Given the description of an element on the screen output the (x, y) to click on. 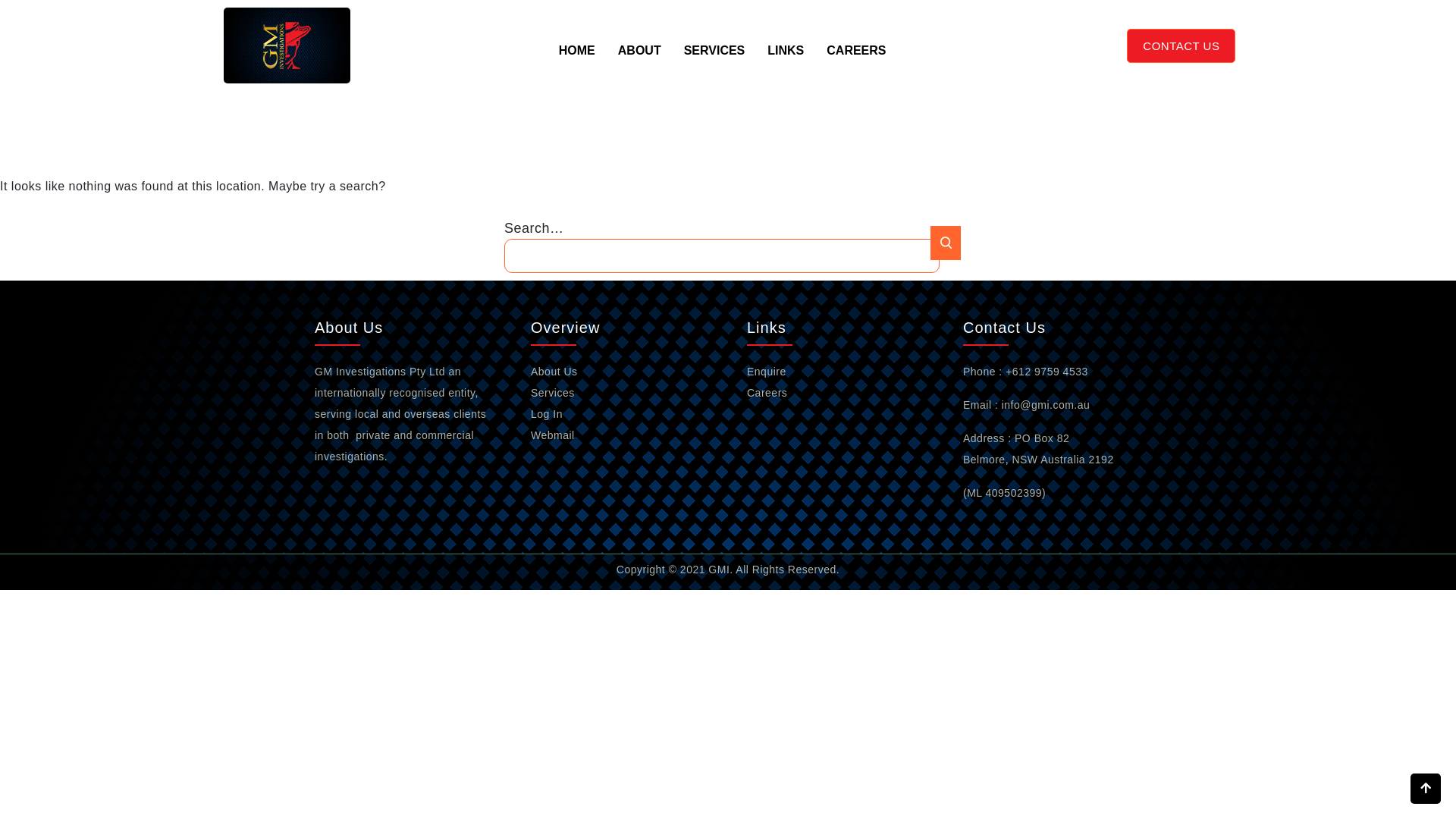
CONTACT US Element type: text (1180, 45)
About Us Element type: text (553, 371)
ABOUT Element type: text (639, 58)
CAREERS Element type: text (856, 58)
Enquire Element type: text (766, 371)
SERVICES Element type: text (714, 58)
Log In Element type: text (546, 413)
Search Element type: text (945, 242)
Webmail Element type: text (552, 435)
Careers Element type: text (766, 392)
LINKS Element type: text (785, 58)
Services Element type: text (552, 392)
HOME Element type: text (576, 58)
